Given the description of an element on the screen output the (x, y) to click on. 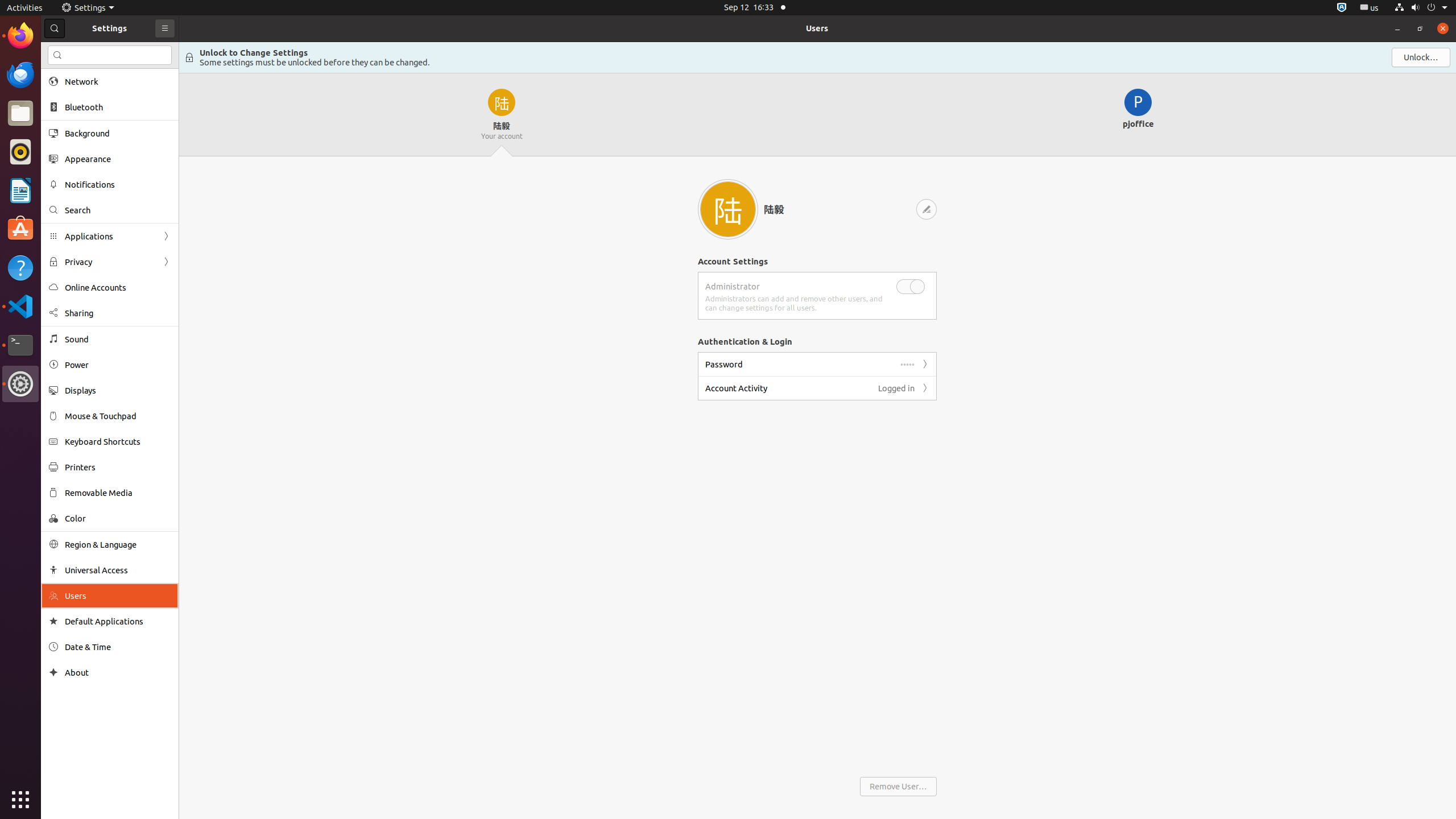
Notifications Element type: label (117, 184)
Applications Element type: label (109, 236)
陆毅 Element type: label (804, 209)
Remove User… Element type: push-button (897, 786)
